Given the description of an element on the screen output the (x, y) to click on. 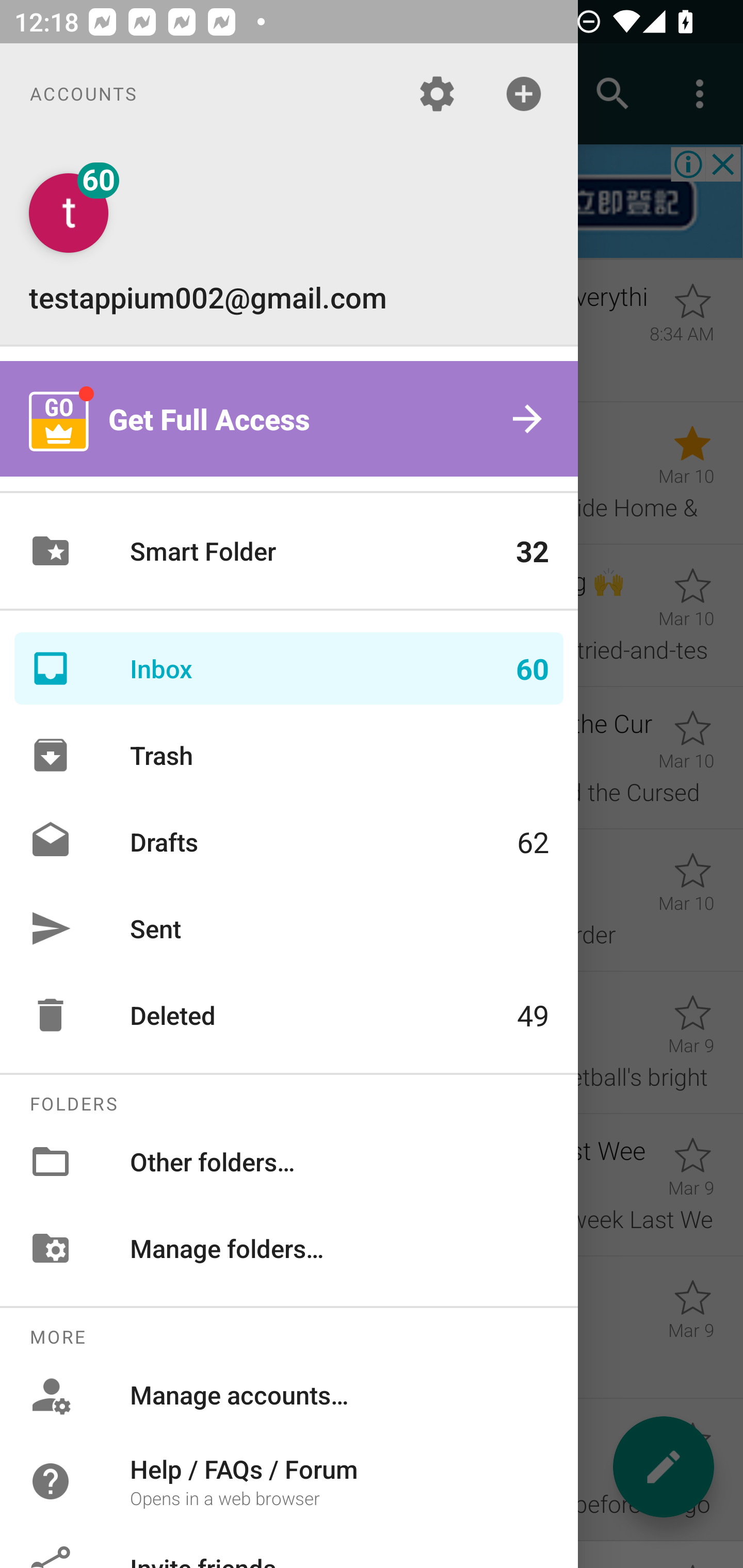
testappium002@gmail.com (289, 244)
Get Full Access (289, 418)
Smart Folder 32 (289, 551)
Inbox 60 (289, 668)
Trash (289, 754)
Drafts 62 (289, 841)
Sent (289, 928)
Deleted 49 (289, 1015)
Other folders… (289, 1160)
Manage folders… (289, 1248)
Manage accounts… (289, 1394)
Help / FAQs / Forum Opens in a web browser (289, 1480)
